Given the description of an element on the screen output the (x, y) to click on. 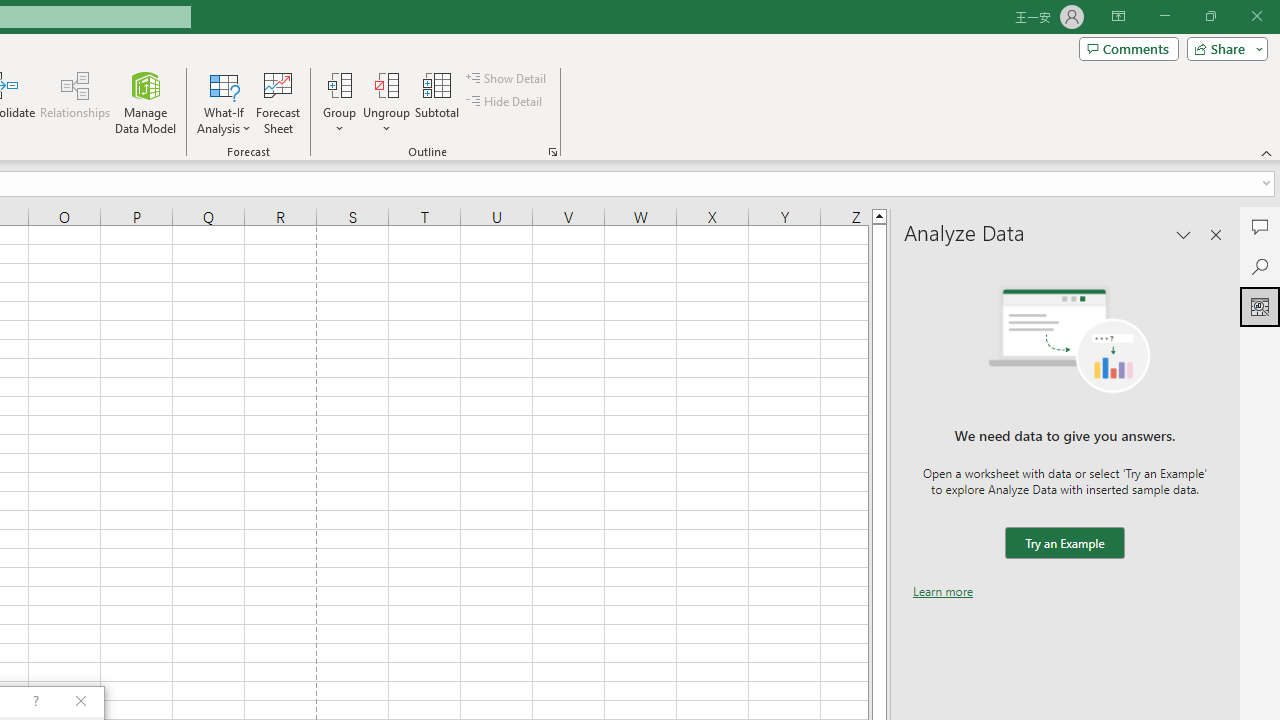
Group... (339, 84)
Task Pane Options (1183, 234)
Line up (879, 215)
Close pane (1215, 234)
Group and Outline Settings (552, 151)
Ungroup... (386, 102)
Ungroup... (386, 84)
Forecast Sheet (278, 102)
We need data to give you answers. Try an Example (1064, 543)
What-If Analysis (223, 102)
Hide Detail (505, 101)
